Given the description of an element on the screen output the (x, y) to click on. 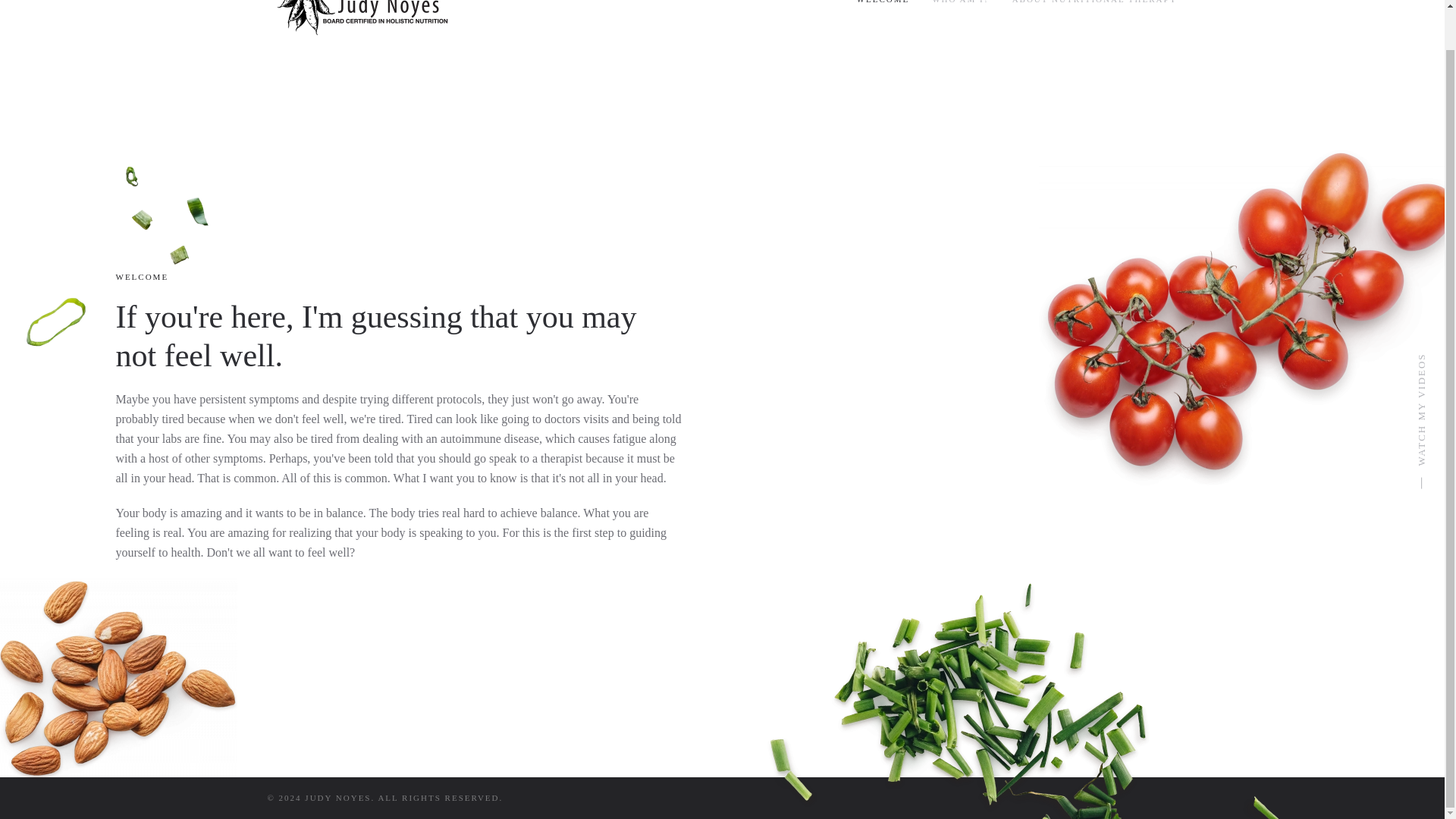
WELCOME (883, 15)
ABOUT NUTRITIONAL THERAPY (1094, 15)
WHO AM I? (959, 15)
